Given the description of an element on the screen output the (x, y) to click on. 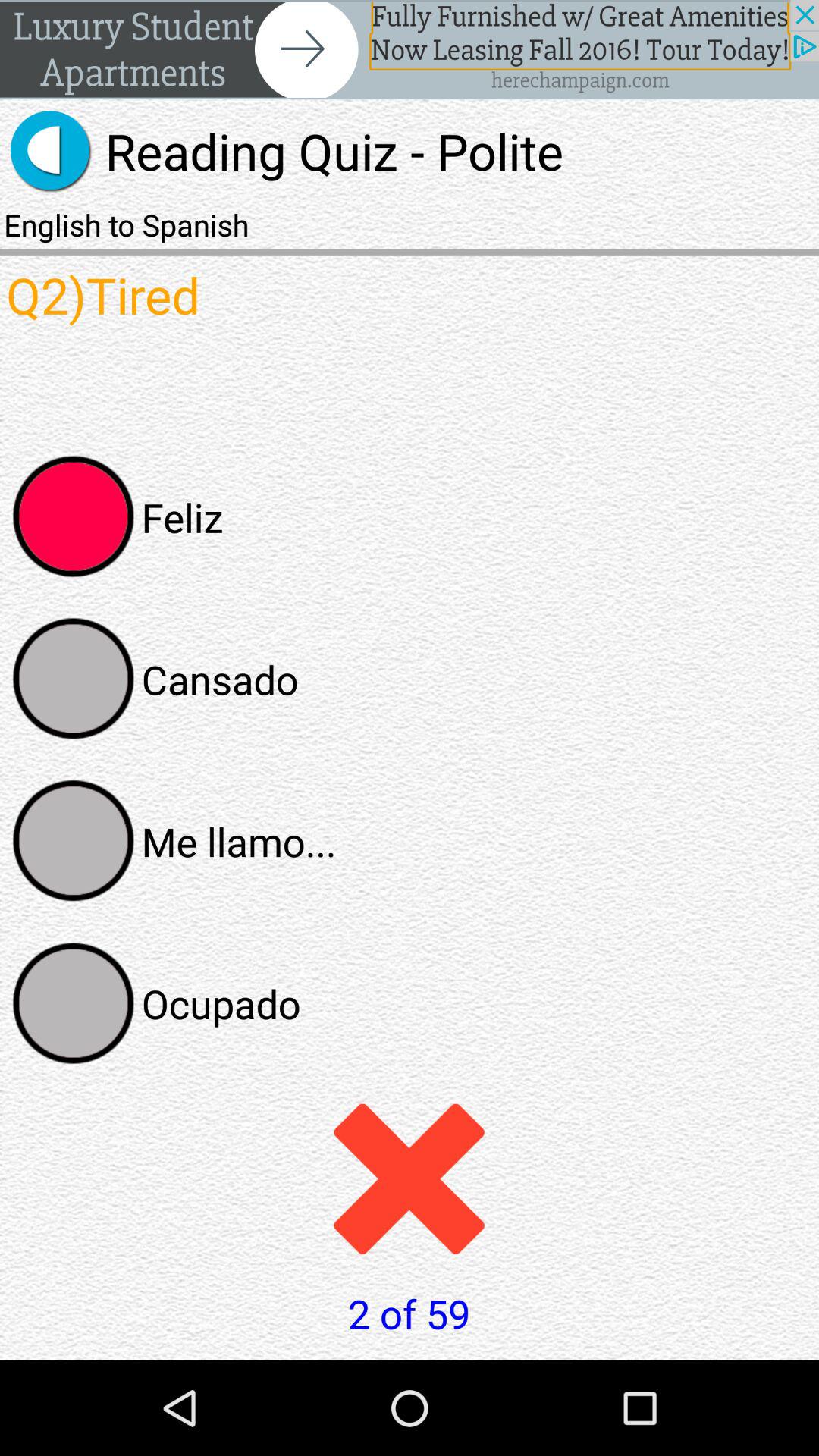
click ocupado (73, 1003)
